Given the description of an element on the screen output the (x, y) to click on. 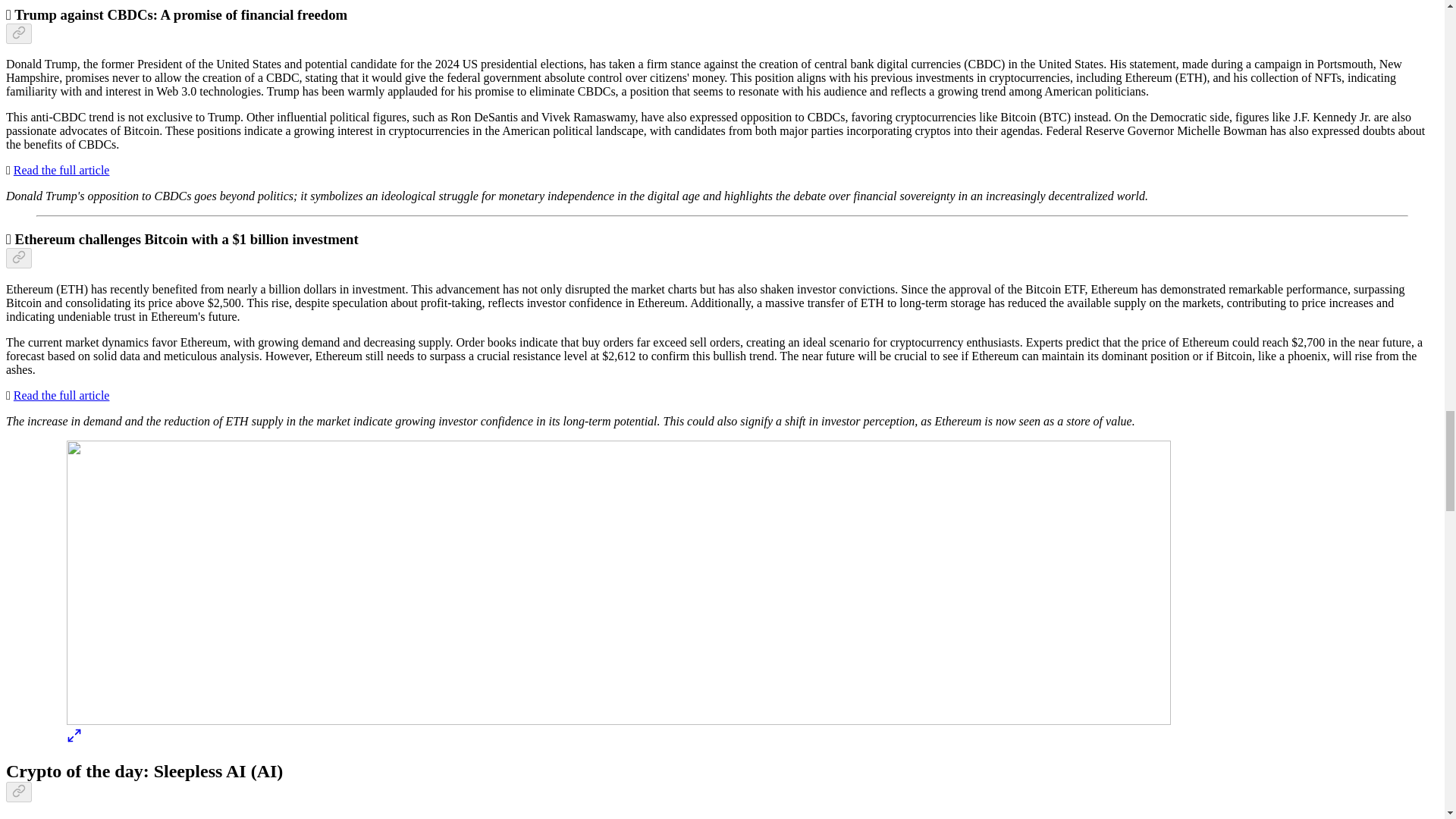
Read the full article (61, 169)
Read the full article (61, 395)
